Given the description of an element on the screen output the (x, y) to click on. 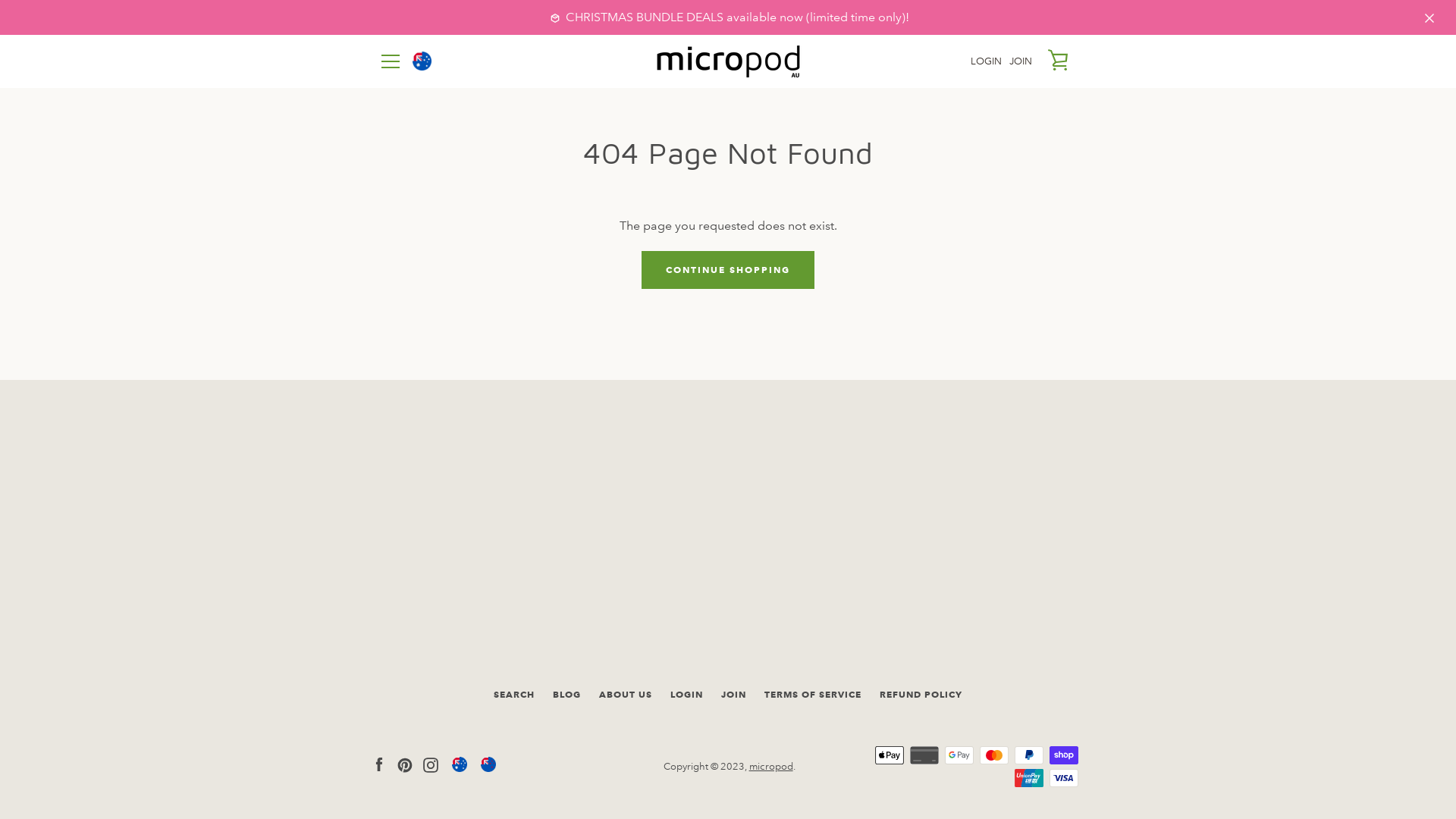
JOIN Element type: text (1020, 61)
ABOUT US Element type: text (625, 693)
Australia Element type: hover (459, 766)
Instagram Element type: text (430, 763)
Pinterest Element type: text (404, 763)
LOGIN Element type: text (985, 61)
EXPAND NAVIGATION Element type: text (390, 61)
SEARCH Element type: text (513, 693)
LOGIN Element type: text (686, 693)
VIEW CART Element type: text (1058, 59)
micropod Element type: text (771, 766)
New Zealand Element type: hover (487, 766)
BLOG Element type: text (566, 693)
TERMS OF SERVICE Element type: text (812, 693)
JOIN Element type: text (733, 693)
CONTINUE SHOPPING Element type: text (727, 269)
Facebook Element type: text (378, 763)
REFUND POLICY Element type: text (920, 693)
